Given the description of an element on the screen output the (x, y) to click on. 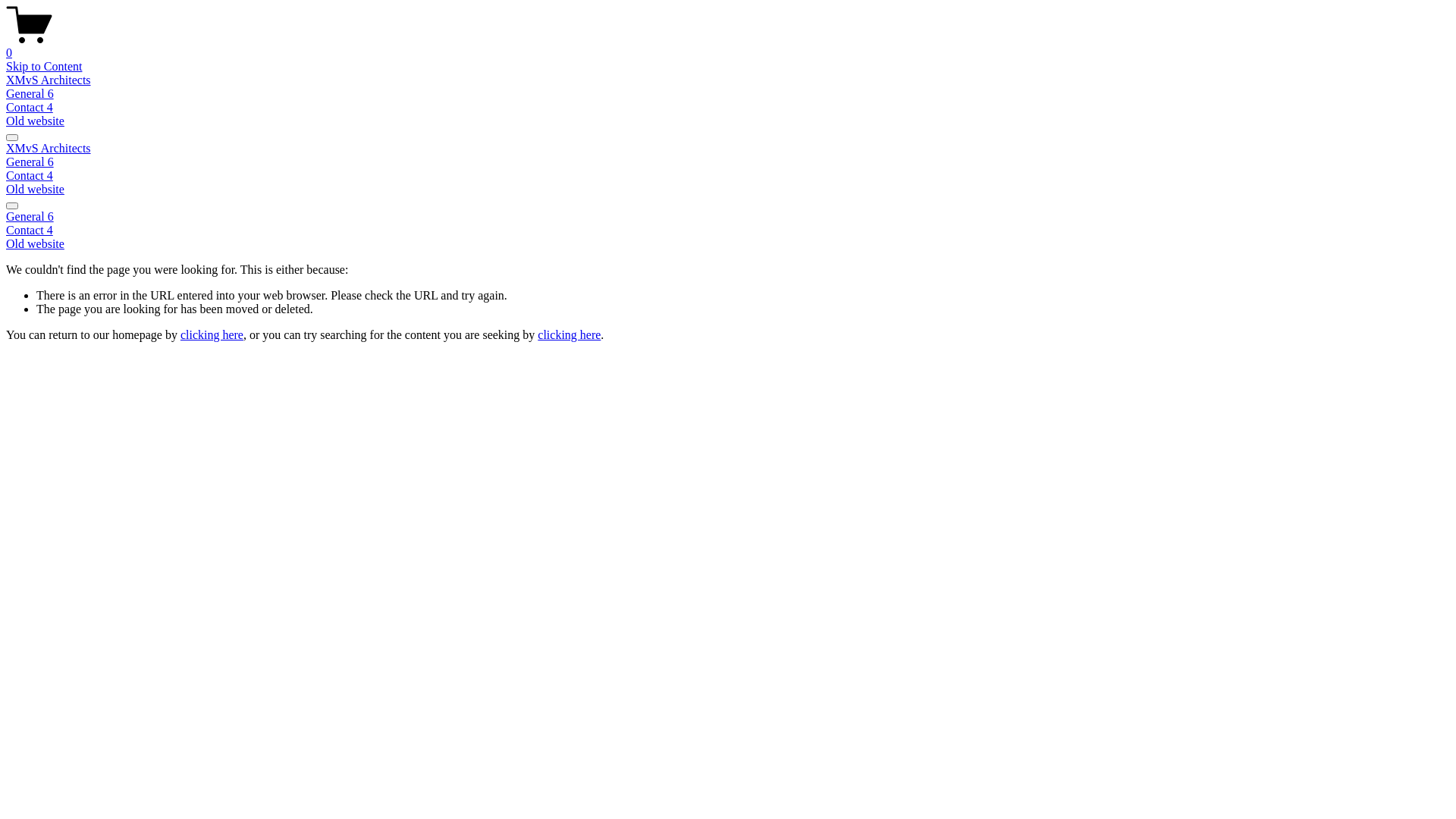
Contact 4 Element type: text (727, 230)
clicking here Element type: text (568, 334)
0 Element type: text (727, 45)
General 6 Element type: text (727, 216)
Skip to Content Element type: text (43, 65)
Old website Element type: text (35, 120)
Contact 4 Element type: text (29, 106)
XMvS Architects Element type: text (48, 79)
General 6 Element type: text (29, 161)
clicking here Element type: text (211, 334)
XMvS Architects Element type: text (48, 147)
General 6 Element type: text (29, 93)
Contact 4 Element type: text (29, 175)
Old website Element type: text (35, 188)
Old website Element type: text (727, 244)
